Given the description of an element on the screen output the (x, y) to click on. 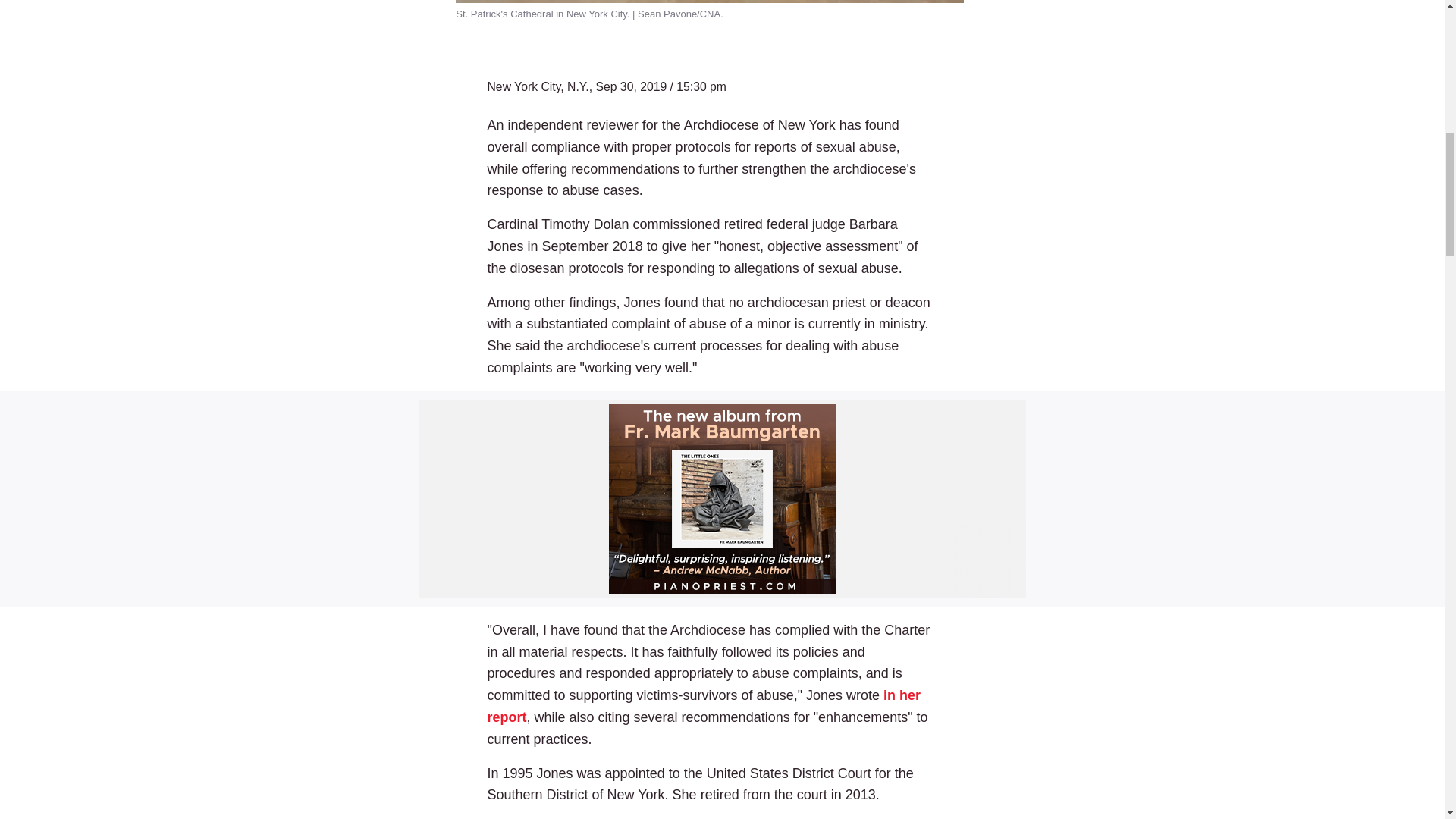
3rd party ad content (722, 499)
